Given the description of an element on the screen output the (x, y) to click on. 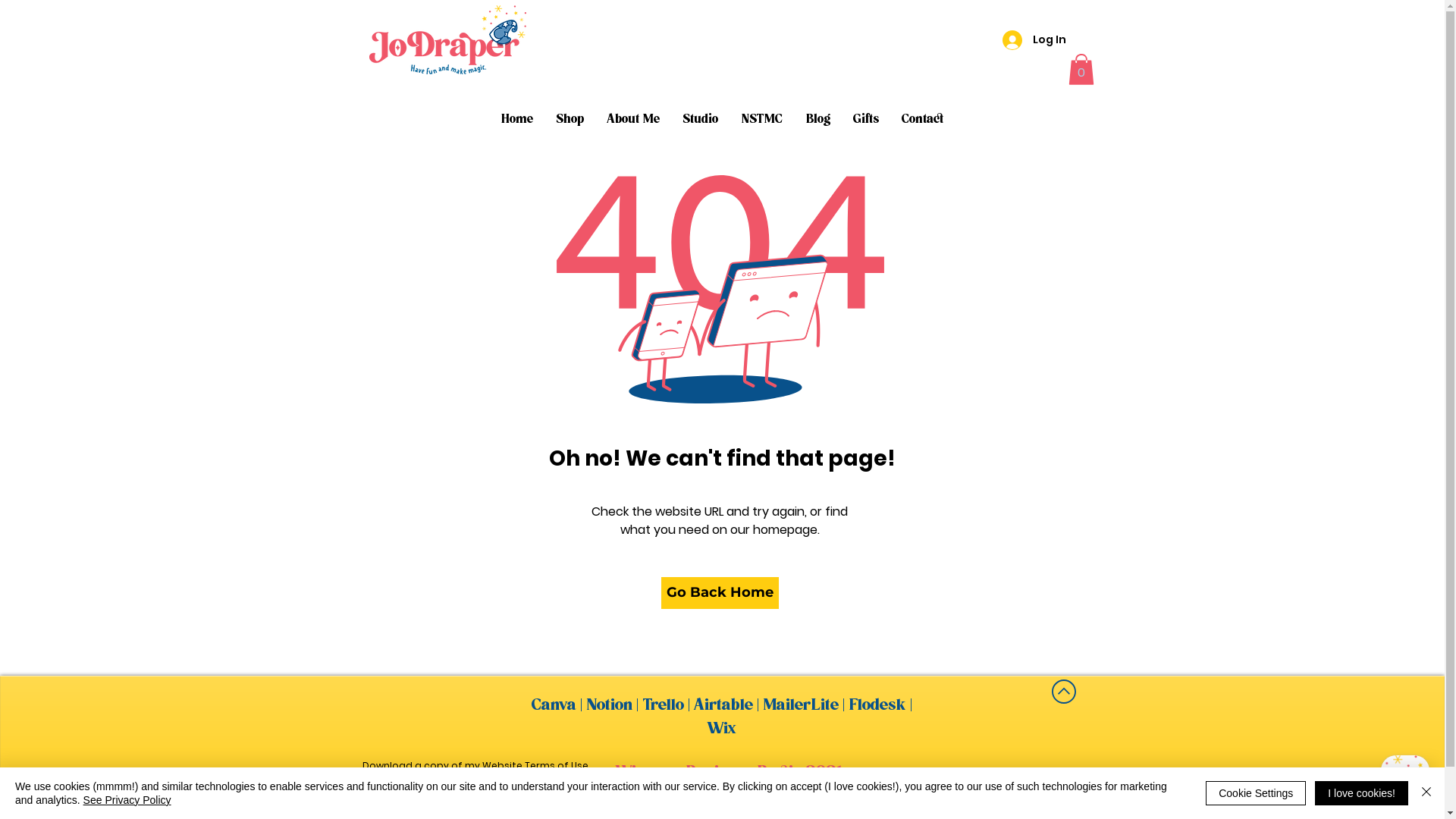
Download a copy of my Privacy Policy  Element type: text (455, 785)
NSTMC Element type: text (761, 119)
See Privacy Policy Element type: text (127, 799)
Download a copy of my Website Terms of Use Element type: text (475, 765)
Gifts Element type: text (865, 119)
I love cookies! Element type: text (1361, 793)
0416 825 265 Element type: text (1037, 782)
About Me Element type: text (633, 119)
Contact Element type: text (922, 119)
0 Element type: text (1080, 68)
Blog Element type: text (818, 119)
Shop Element type: text (569, 119)
Studio Element type: text (700, 119)
Go Back Home Element type: text (719, 592)
Home Element type: text (517, 119)
jo@jodraper.au Element type: text (1033, 809)
Log In Element type: text (1033, 39)
Cookie Settings Element type: text (1255, 793)
